Given the description of an element on the screen output the (x, y) to click on. 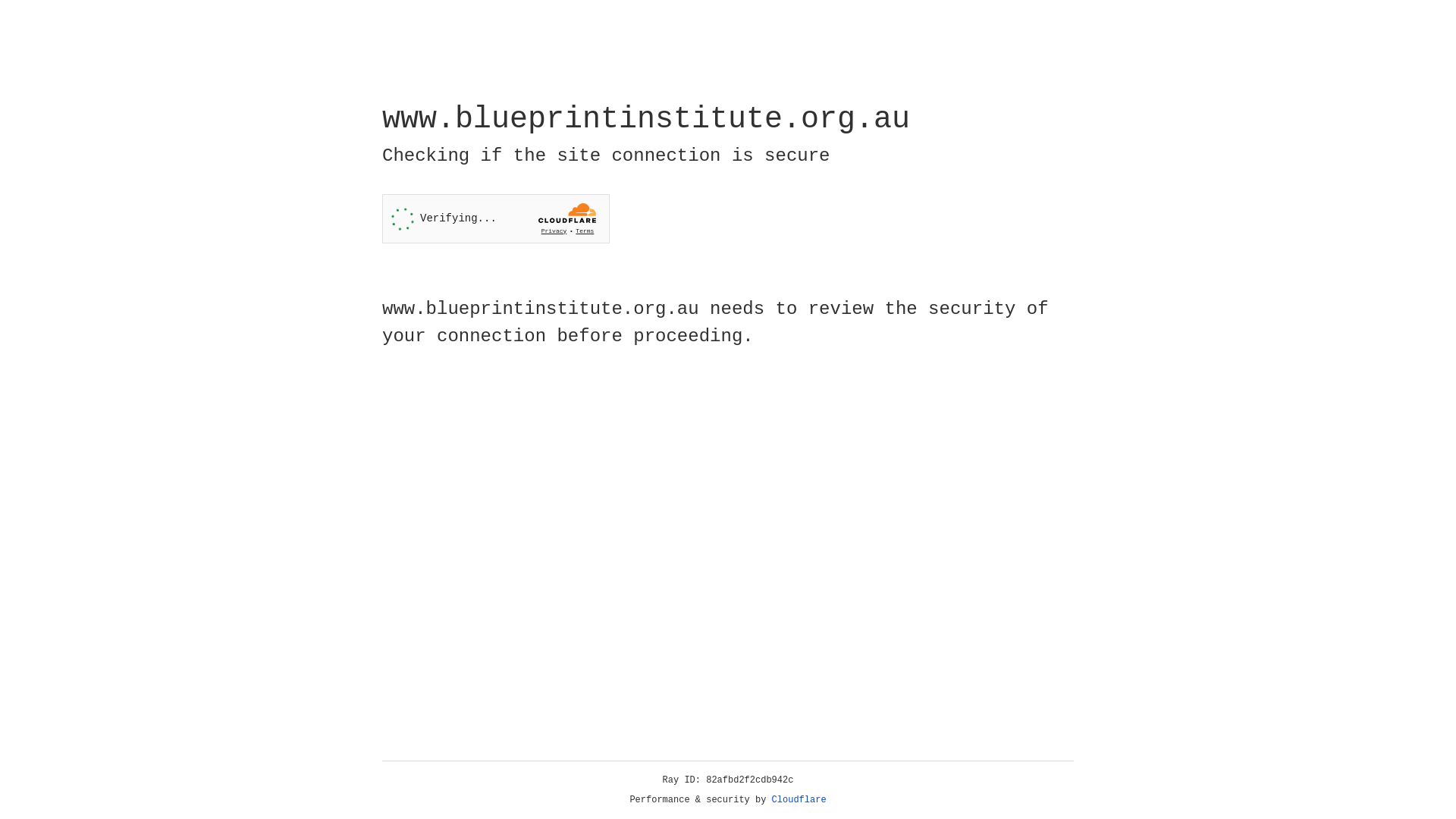
Cloudflare Element type: text (798, 799)
Widget containing a Cloudflare security challenge Element type: hover (495, 218)
